Given the description of an element on the screen output the (x, y) to click on. 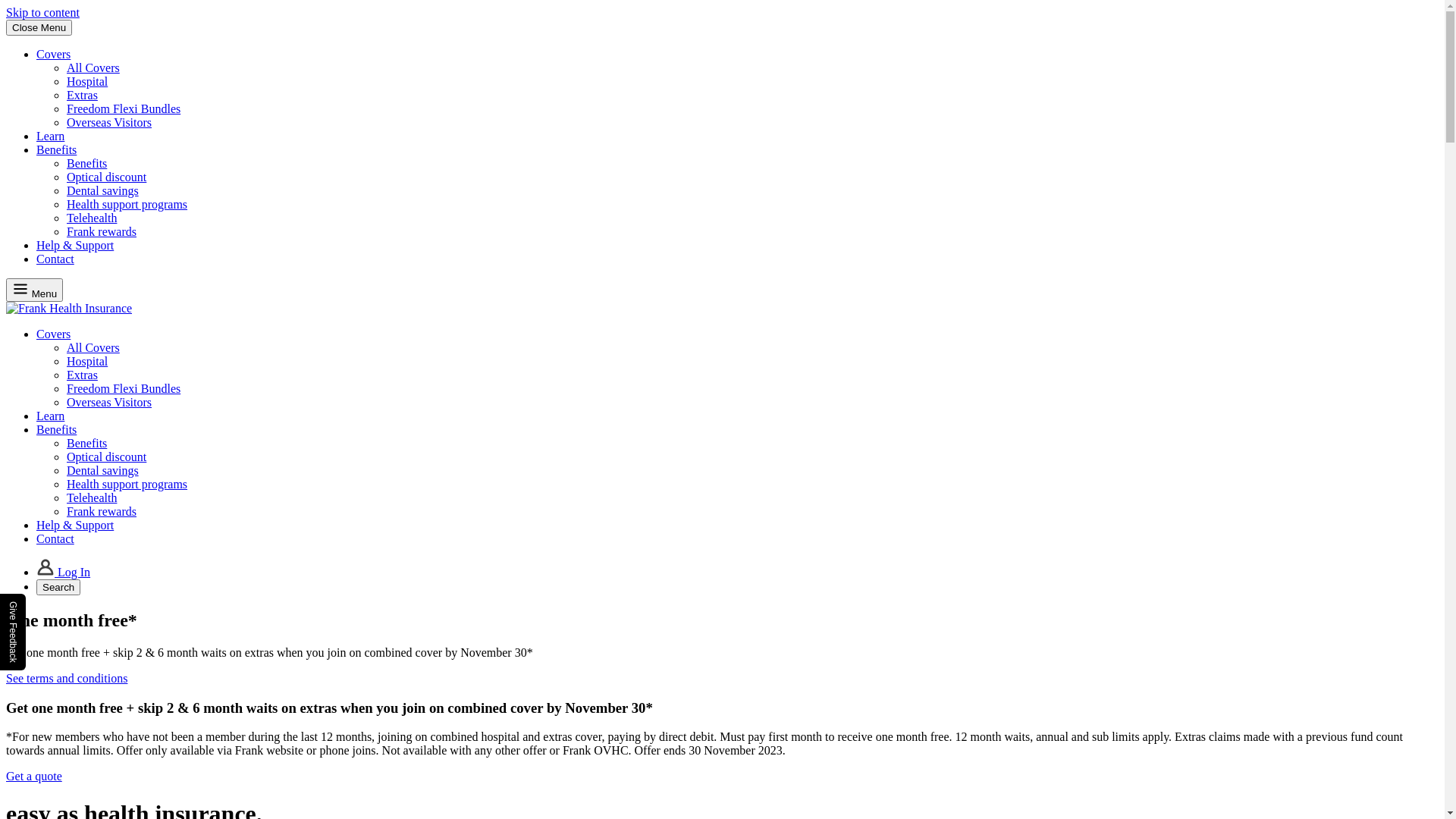
See terms and conditions Element type: text (66, 677)
Hospital Element type: text (86, 81)
Close Menu Element type: text (39, 27)
Get a quote Element type: text (34, 775)
Contact Element type: text (55, 258)
Search Element type: text (58, 587)
Covers Element type: text (53, 53)
Learn Element type: text (50, 415)
Menu Element type: text (34, 289)
All Covers Element type: text (92, 67)
Contact Element type: text (55, 538)
Log In Element type: text (63, 571)
Benefits Element type: text (56, 149)
All Covers Element type: text (92, 347)
Health support programs Element type: text (126, 203)
Optical discount Element type: text (106, 456)
Health support programs Element type: text (126, 483)
Frank rewards Element type: text (101, 231)
Benefits Element type: text (86, 442)
Help & Support Element type: text (74, 244)
Freedom Flexi Bundles Element type: text (123, 108)
Dental savings Element type: text (102, 190)
Telehealth Element type: text (91, 497)
Skip to content Element type: text (42, 12)
Extras Element type: text (81, 374)
Frank rewards Element type: text (101, 511)
Telehealth Element type: text (91, 217)
Help & Support Element type: text (74, 524)
Hospital Element type: text (86, 360)
Optical discount Element type: text (106, 176)
Benefits Element type: text (56, 429)
Dental savings Element type: text (102, 470)
Freedom Flexi Bundles Element type: text (123, 388)
Overseas Visitors Element type: text (108, 401)
Covers Element type: text (53, 333)
Extras Element type: text (81, 94)
Give Feedback Element type: text (13, 631)
Learn Element type: text (50, 135)
Benefits Element type: text (86, 162)
Overseas Visitors Element type: text (108, 122)
